Given the description of an element on the screen output the (x, y) to click on. 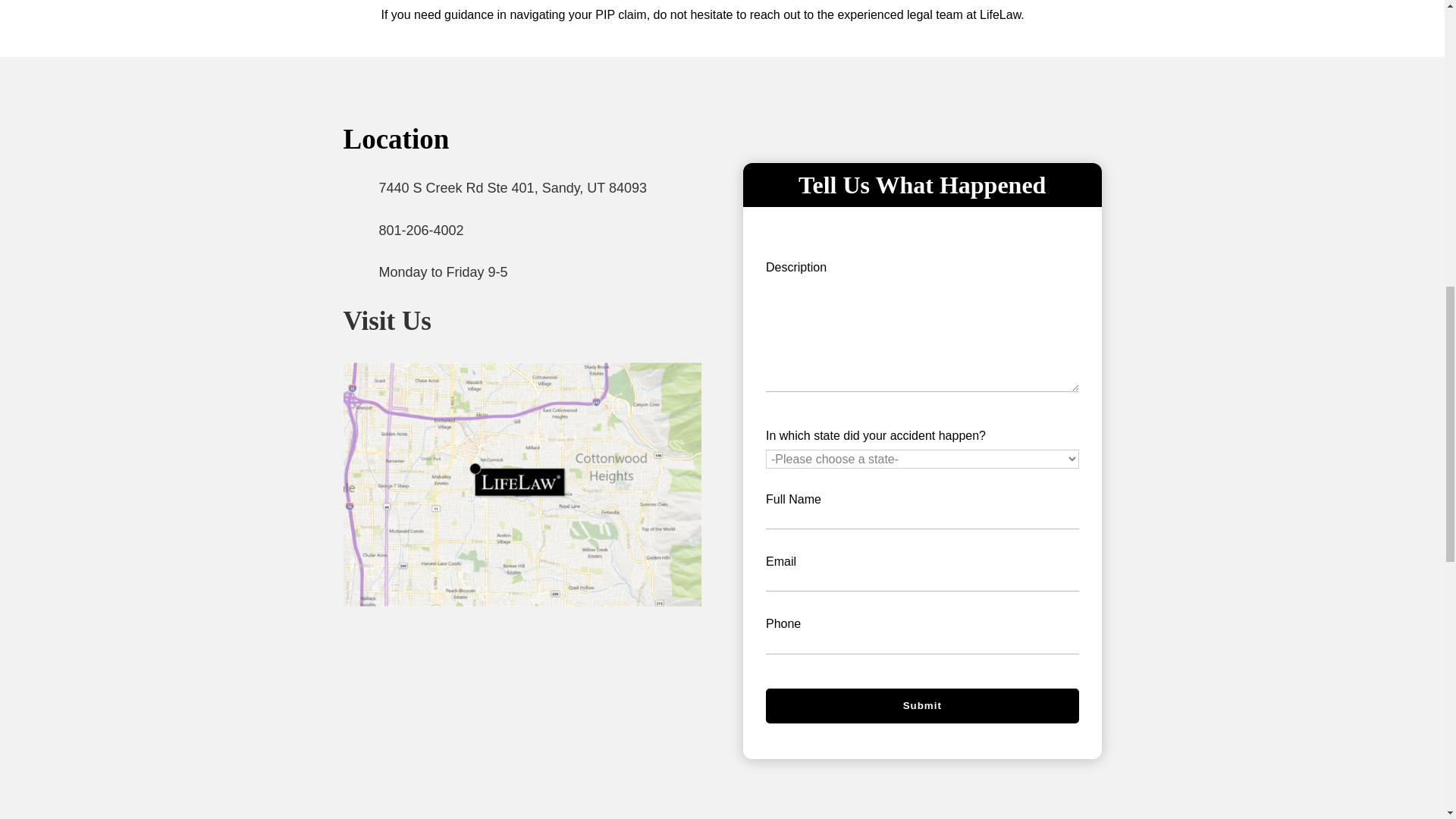
Submit (921, 705)
